Given the description of an element on the screen output the (x, y) to click on. 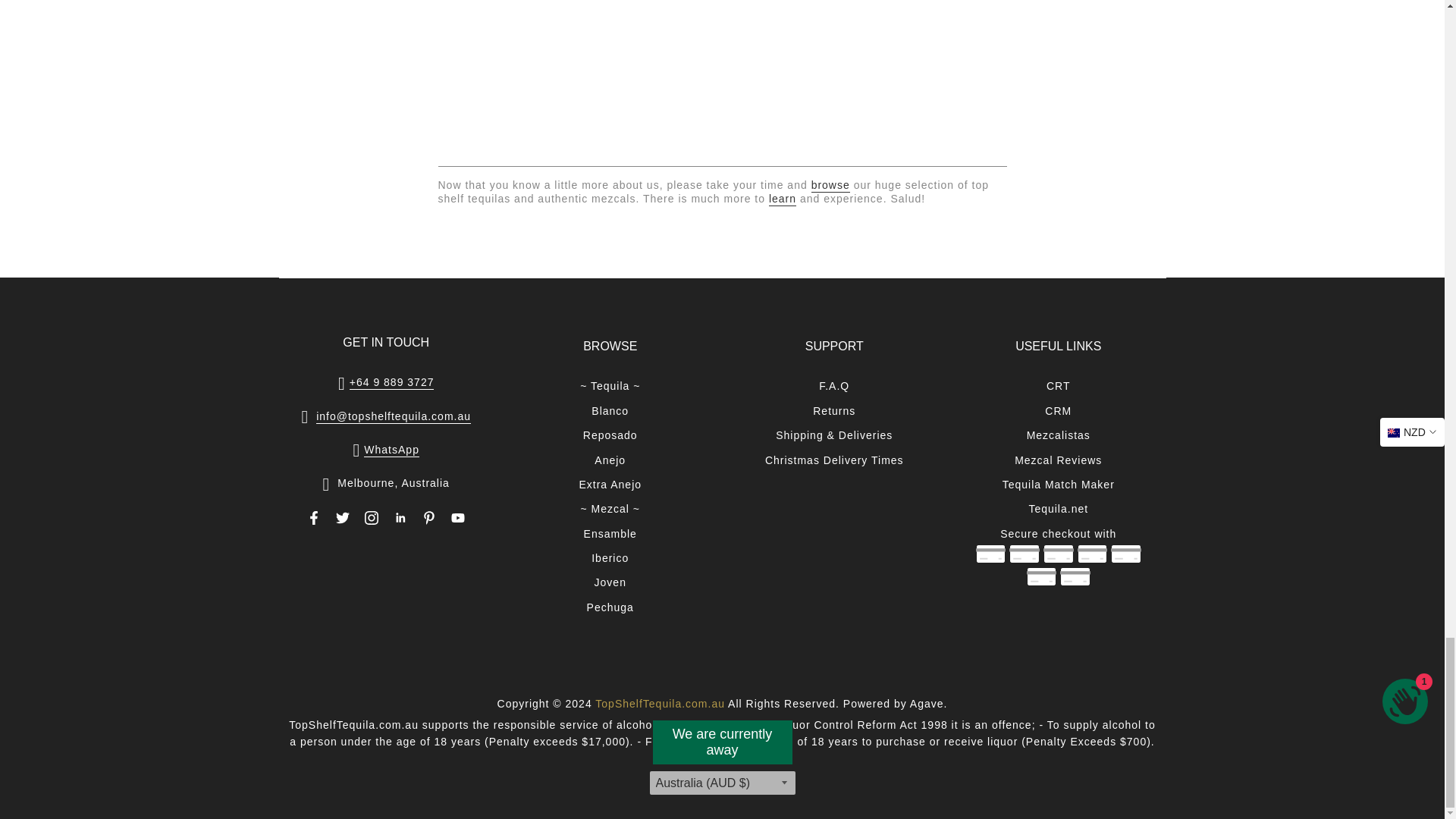
Tequila and mezcal (830, 185)
